Given the description of an element on the screen output the (x, y) to click on. 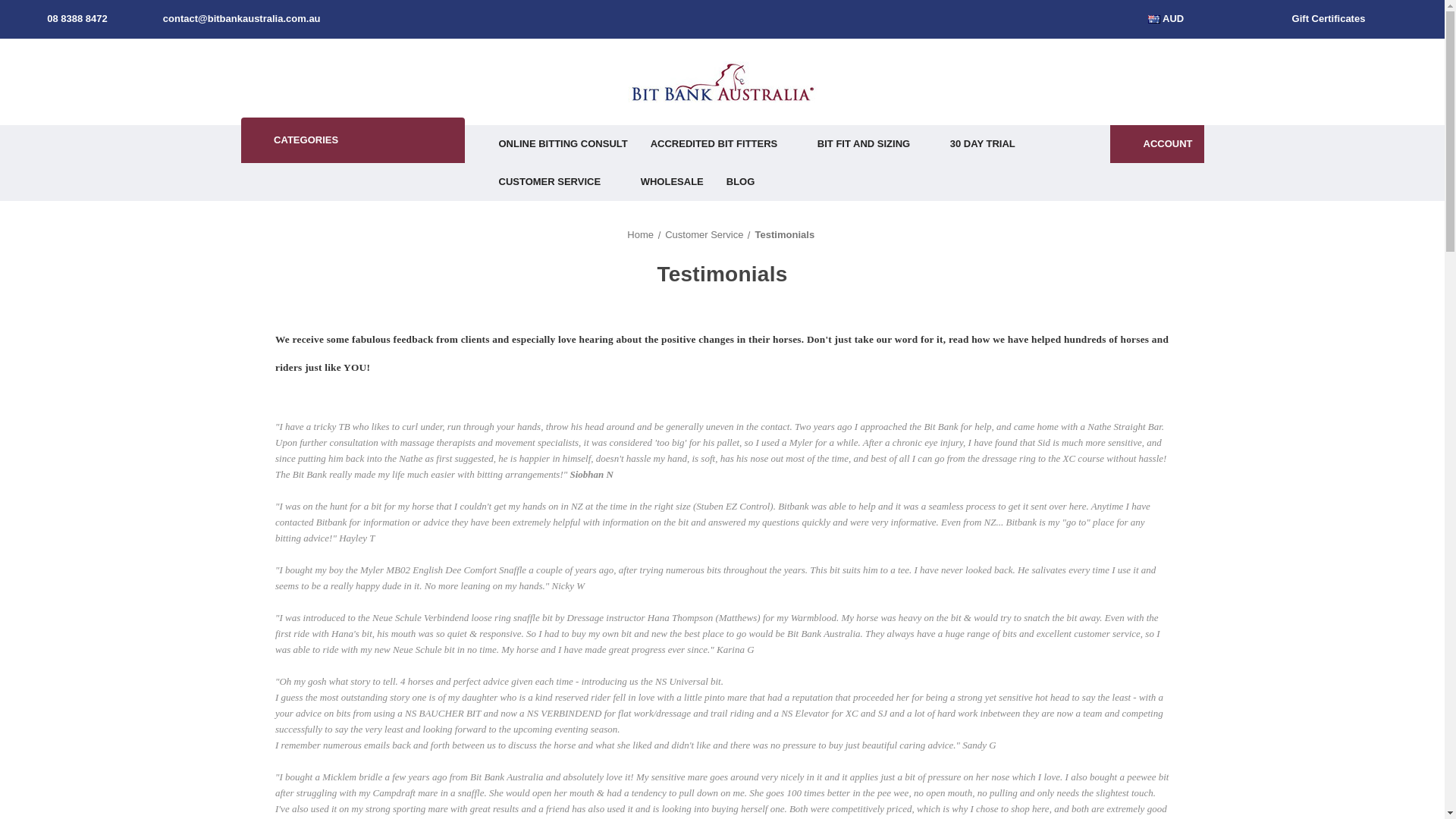
AUD (1172, 18)
Gift Certificates (1317, 18)
Bit Bank Australia (721, 81)
08 8388 8472 (67, 18)
